Given the description of an element on the screen output the (x, y) to click on. 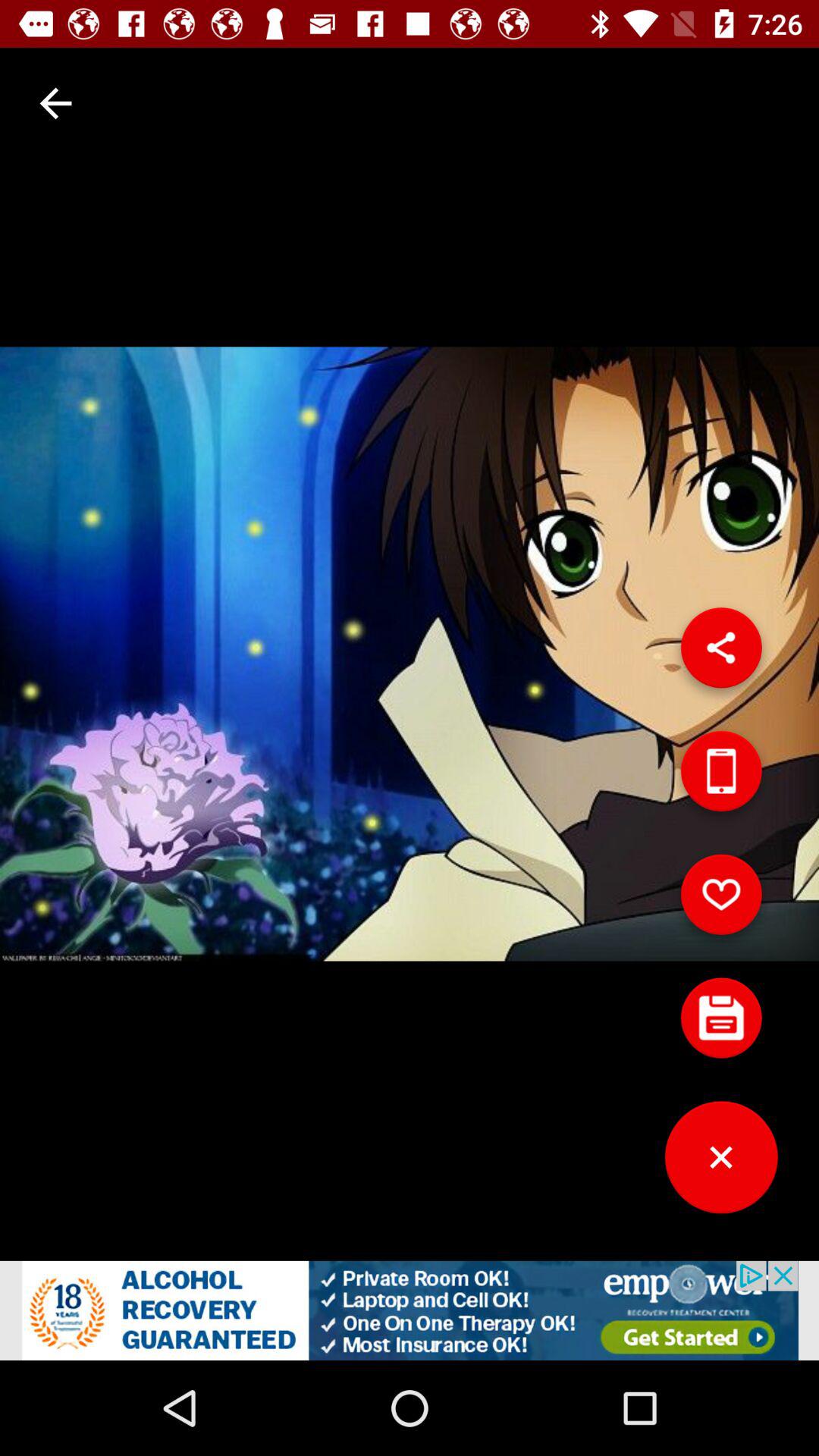
like (721, 900)
